Given the description of an element on the screen output the (x, y) to click on. 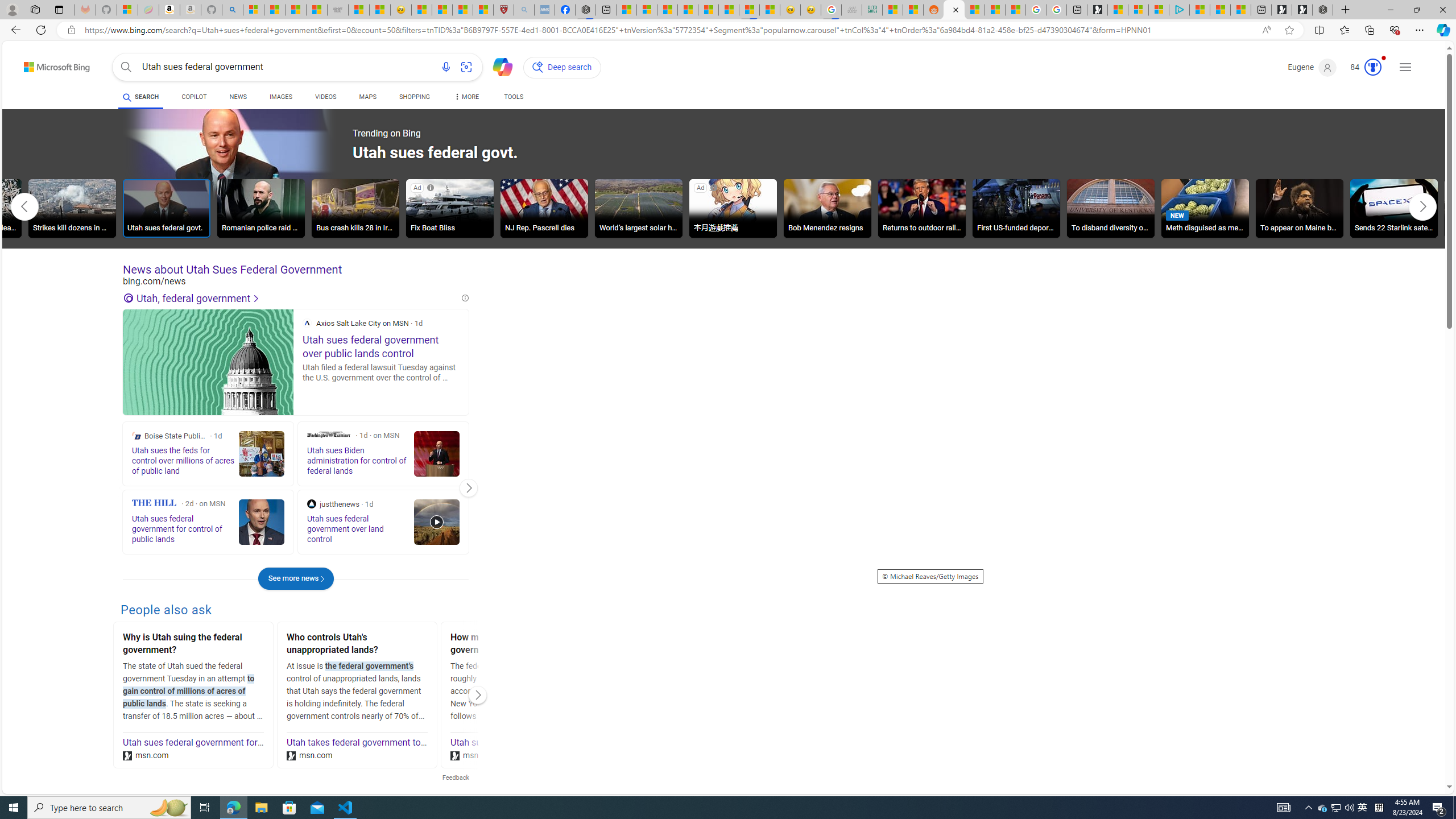
Returns to outdoor rallying (921, 207)
MAPS (367, 98)
Search using voice (445, 66)
Boise State Public Radio (136, 435)
Why is Utah suing the federal government? (192, 645)
About our ads (713, 187)
To appear on Maine ballot (1299, 209)
